Given the description of an element on the screen output the (x, y) to click on. 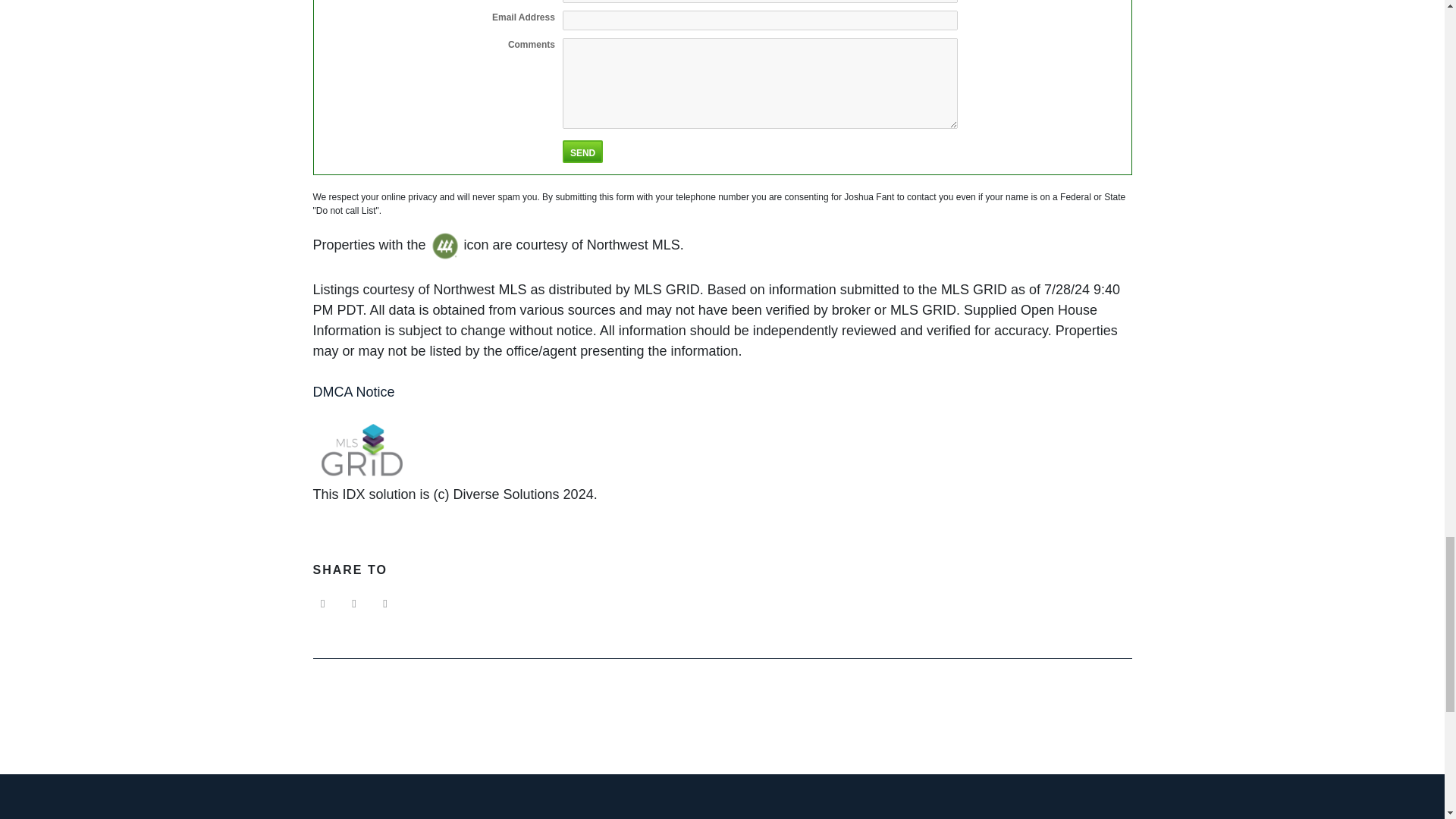
DMCA Notice (353, 391)
SEND (582, 151)
